Given the description of an element on the screen output the (x, y) to click on. 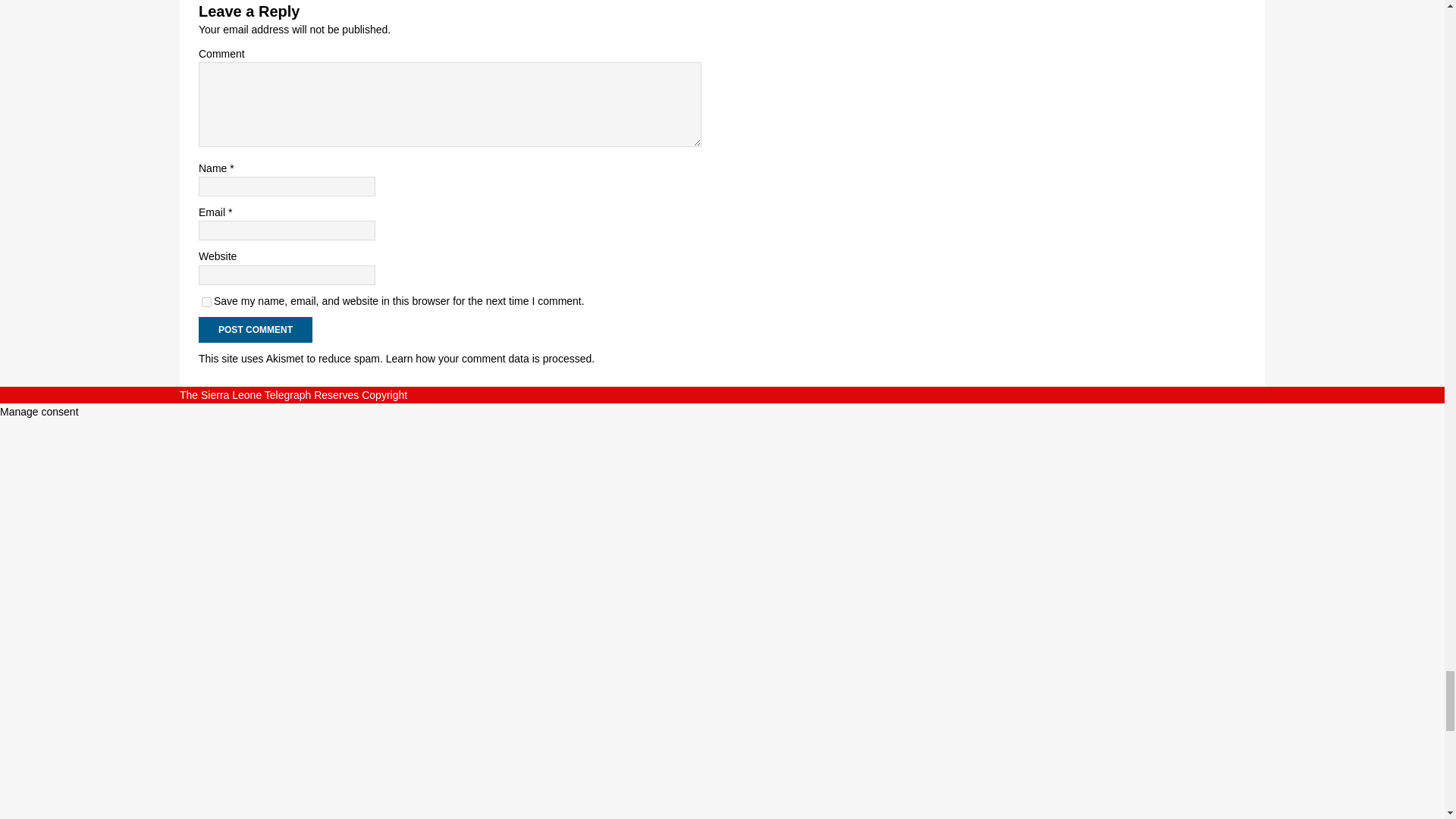
yes (206, 302)
Post Comment (255, 329)
